Given the description of an element on the screen output the (x, y) to click on. 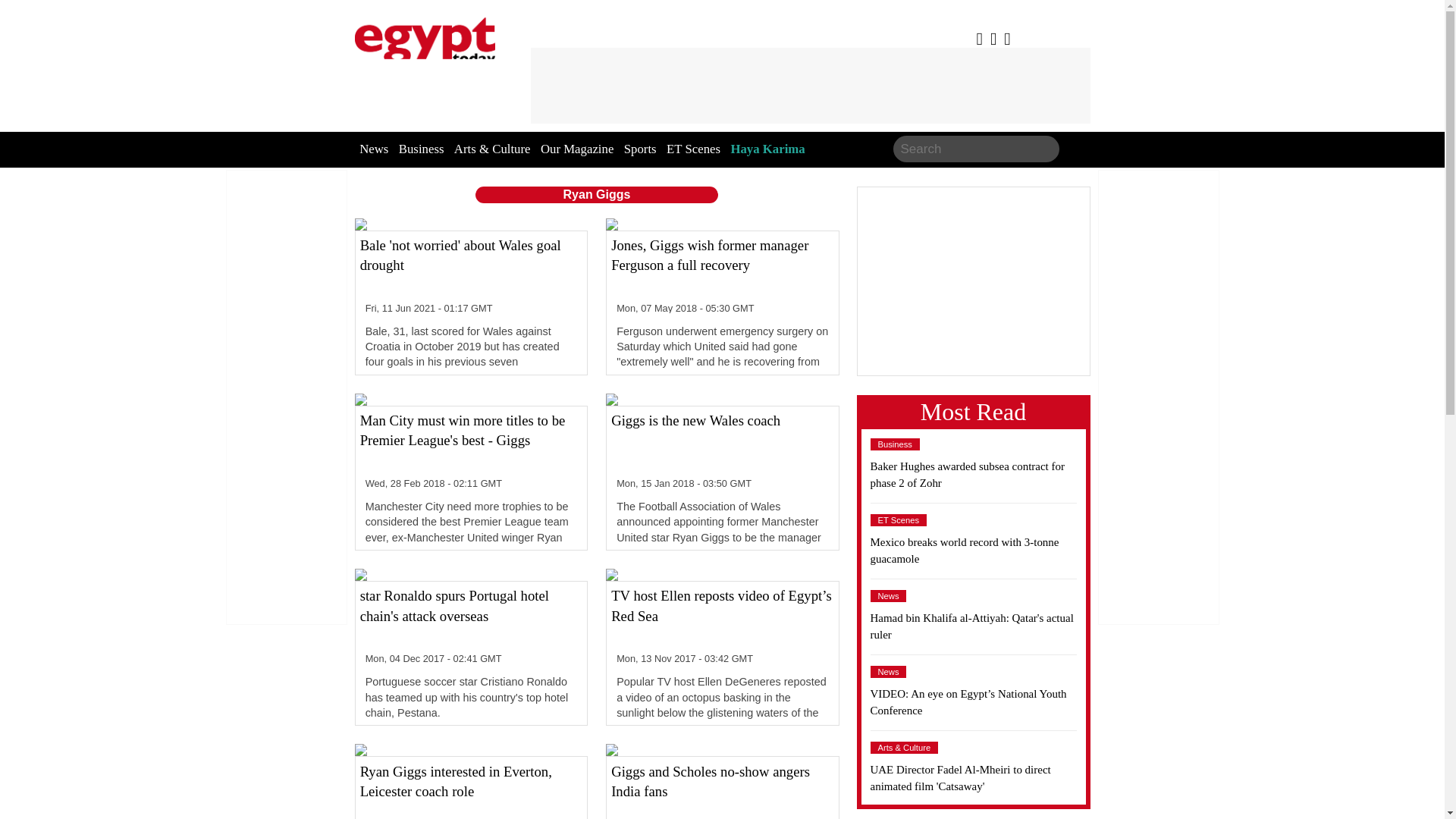
Our Magazine (576, 149)
ET Scenes (693, 149)
EgyptToday (425, 39)
Business (421, 149)
Giggs and Scholes no-show angers India fans (721, 790)
Jones, Giggs wish former manager Ferguson a full recovery (721, 265)
Giggs is the new Wales coach (721, 441)
Ryan Giggs interested in Everton, Leicester coach role (470, 790)
star Ronaldo spurs Portugal hotel chain's attack overseas (470, 616)
Sports (640, 149)
Haya Karima (767, 149)
Bale 'not worried' about Wales goal drought (470, 265)
